Given the description of an element on the screen output the (x, y) to click on. 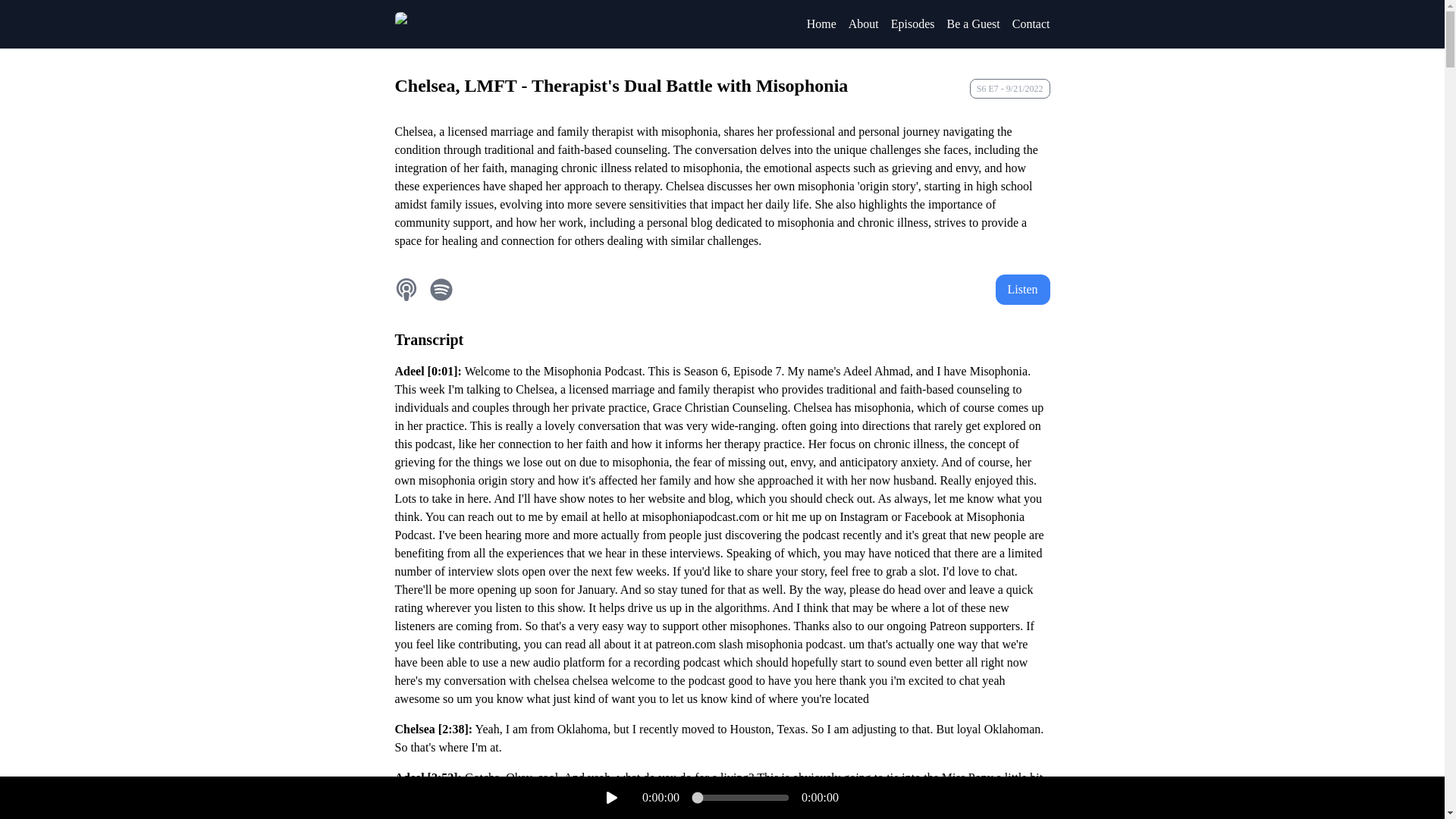
Episodes (912, 24)
Listen (1021, 289)
0 (740, 797)
About (863, 24)
Home (820, 24)
Contact (1030, 24)
Be a Guest (973, 24)
